Given the description of an element on the screen output the (x, y) to click on. 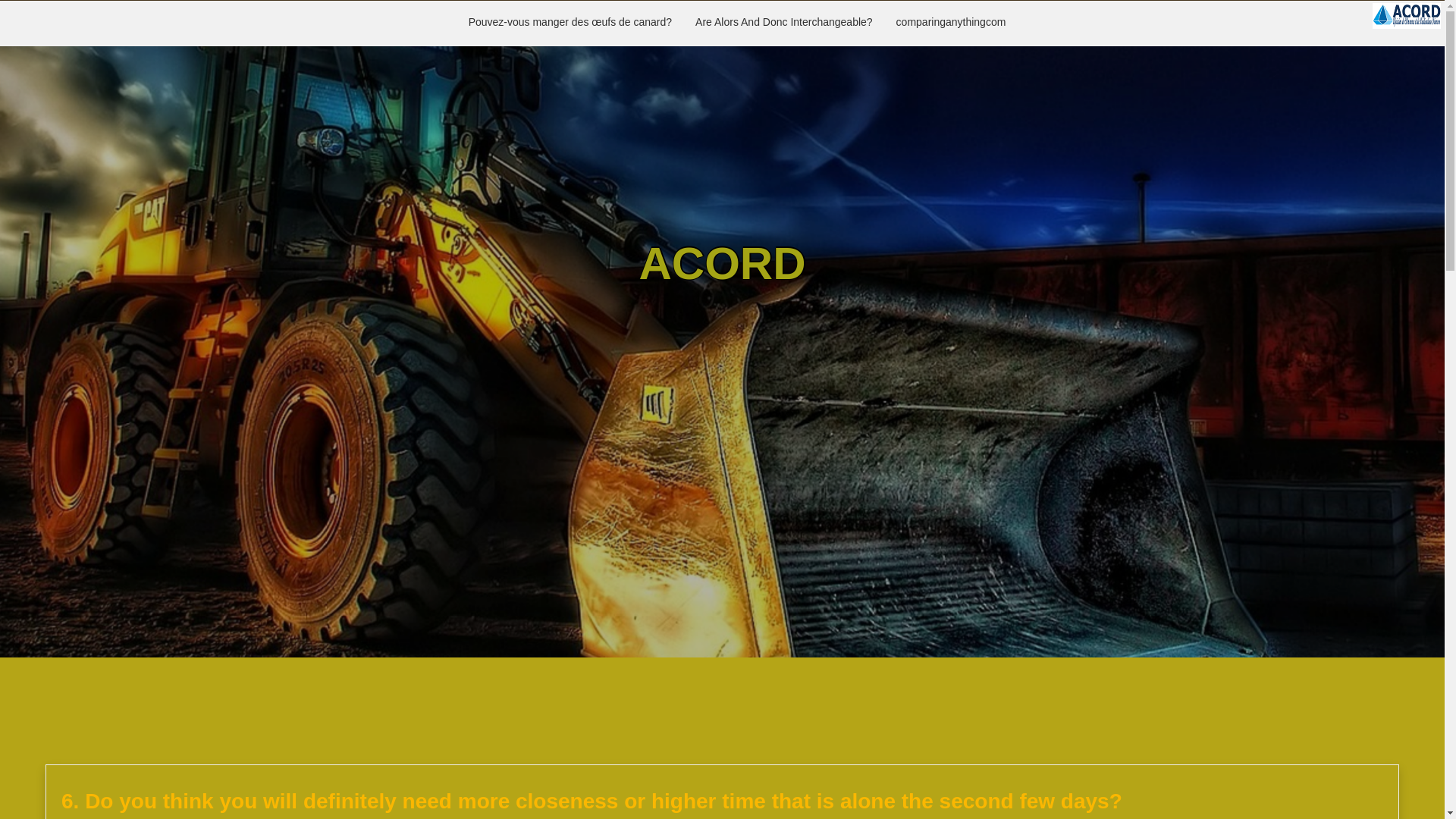
comparinganythingcom (951, 22)
ACORD (722, 263)
Are Alors And Donc Interchangeable? (784, 22)
